Given the description of an element on the screen output the (x, y) to click on. 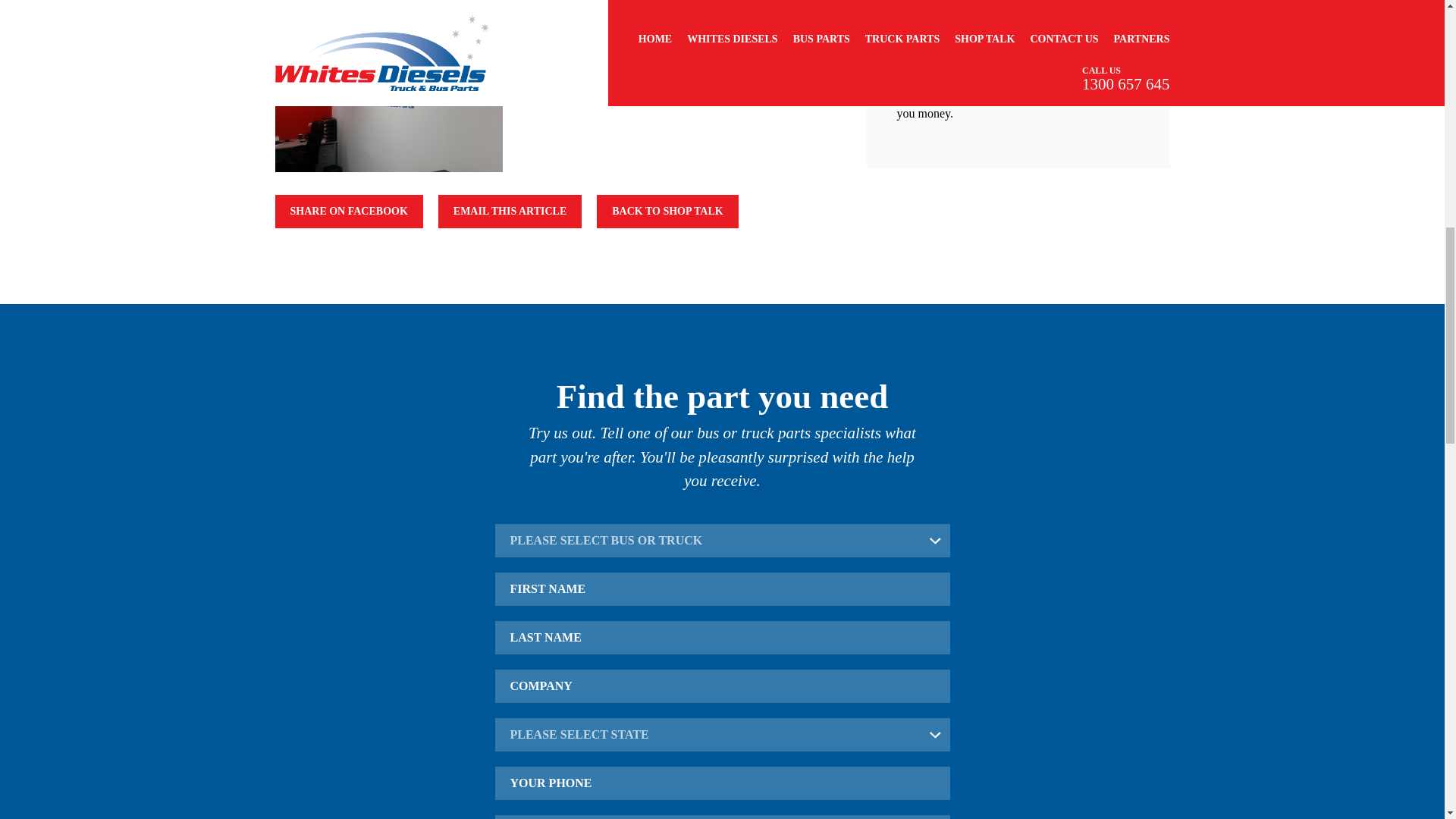
BACK TO SHOP TALK (667, 211)
Whites Diesels are your Volvo FH13 Specialists (1012, 3)
SHARE ON FACEBOOK (348, 211)
EMAIL THIS ARTICLE (509, 211)
